Given the description of an element on the screen output the (x, y) to click on. 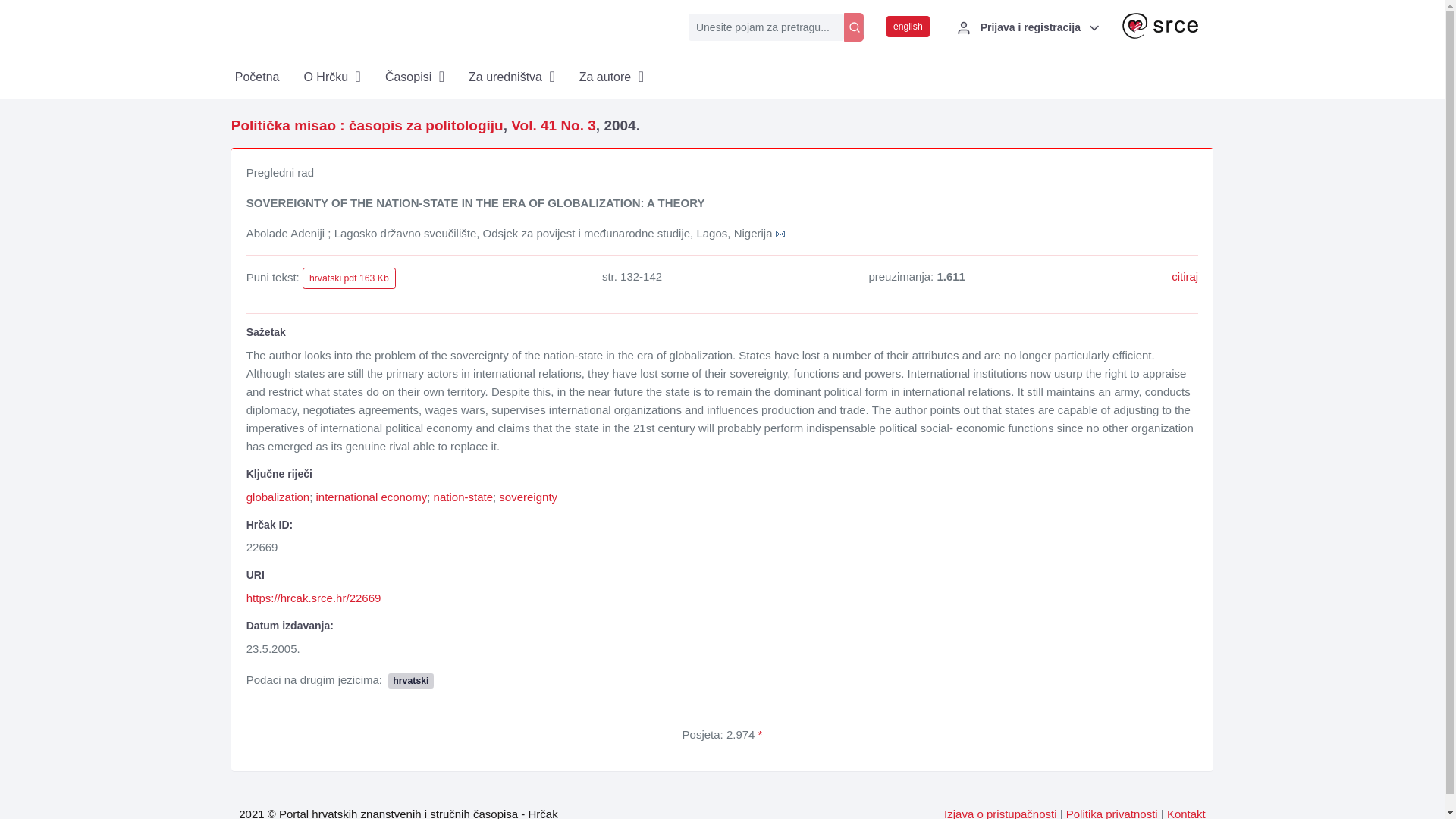
citiraj (1185, 276)
hrvatski pdf 163 Kb (349, 278)
Za autore (611, 76)
international economy (370, 496)
nation-state (463, 496)
mail (780, 233)
english (908, 25)
Vol. 41 No. 3 (553, 125)
globalization (277, 496)
Prijava i registracija (1025, 27)
